Given the description of an element on the screen output the (x, y) to click on. 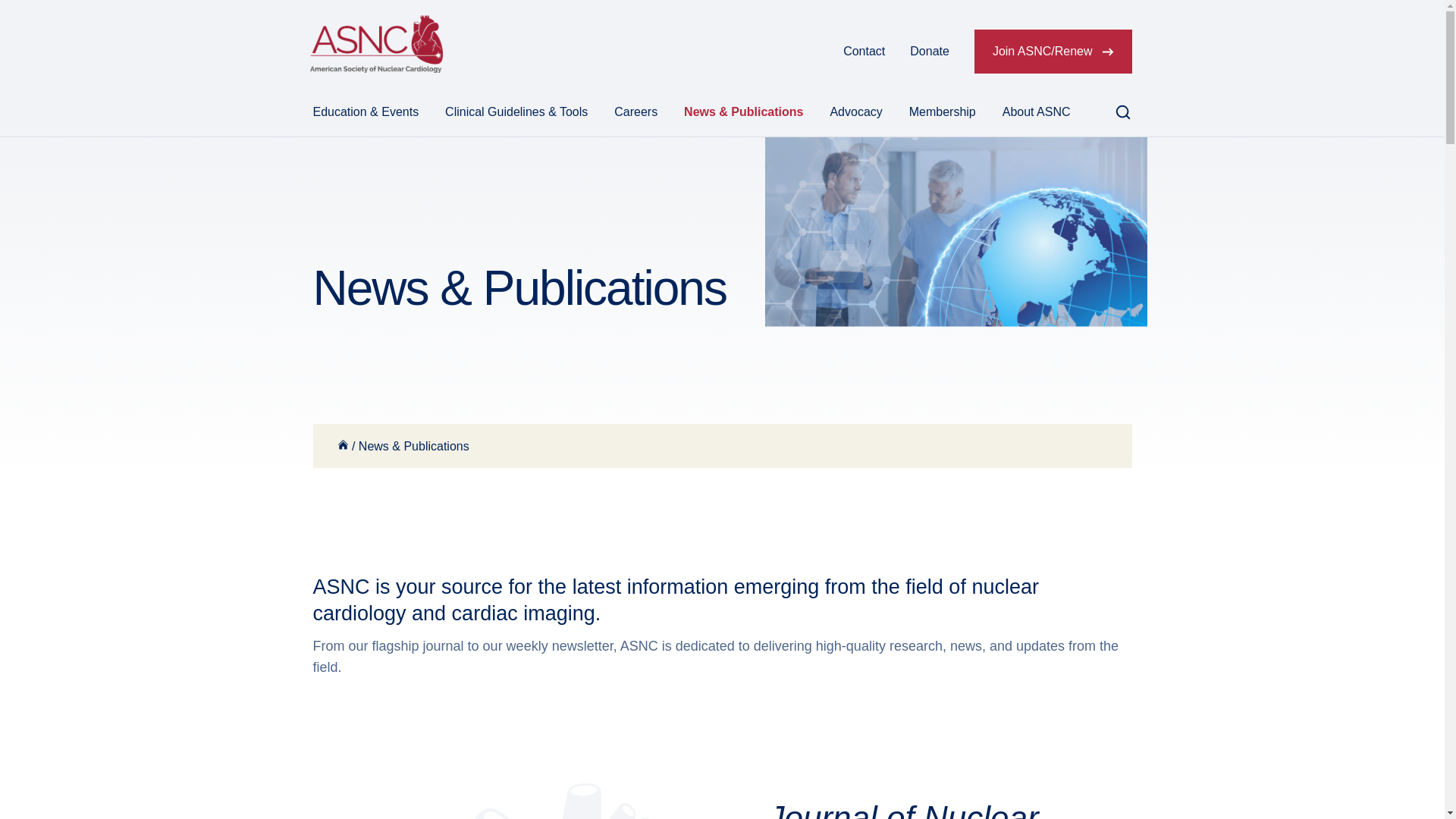
Log In (801, 51)
Donate (929, 51)
Contact (863, 51)
heart (509, 800)
